Given the description of an element on the screen output the (x, y) to click on. 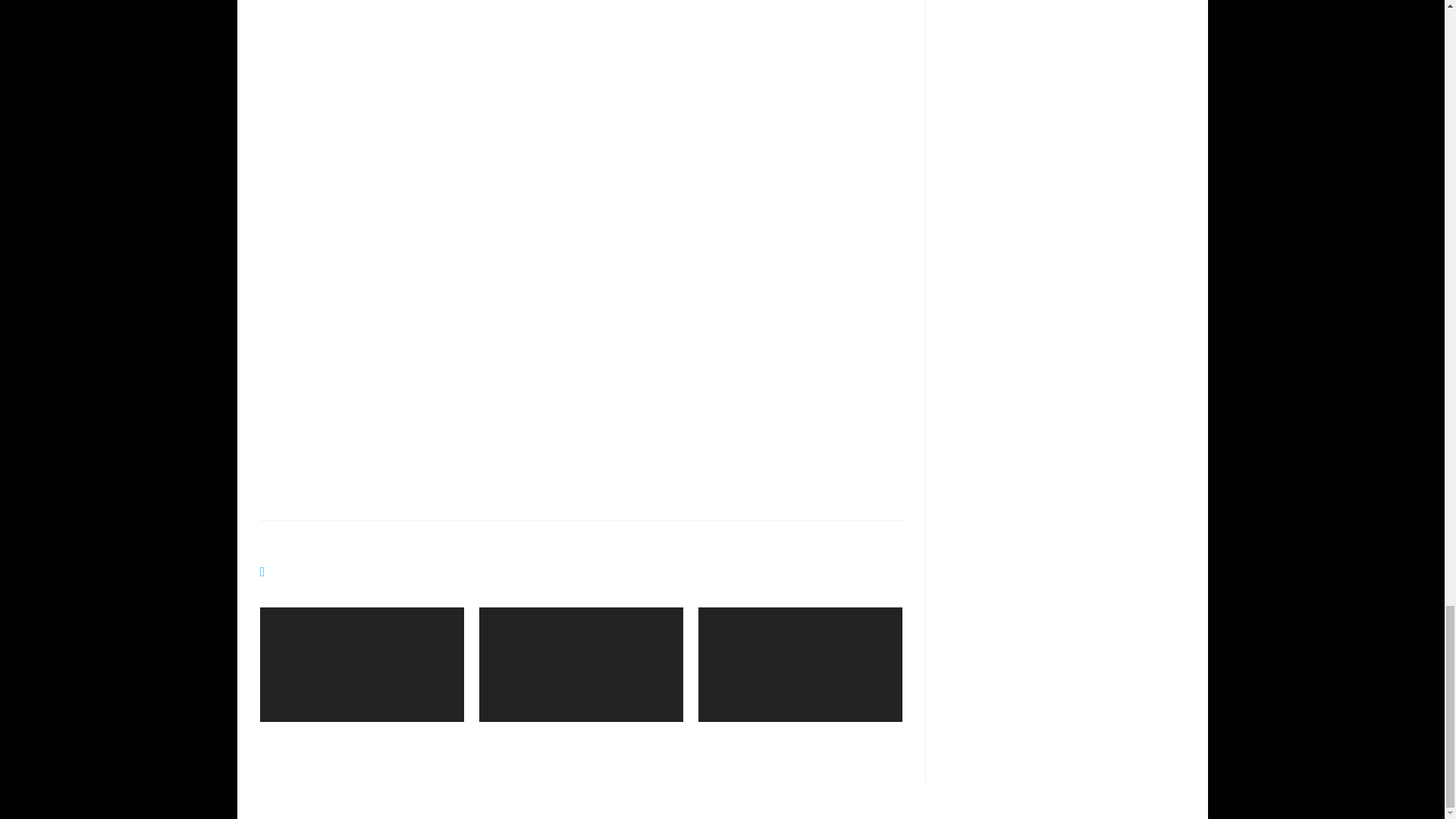
EP143: How to Combat A Saturated Market ft. Glenn Stromberg (580, 739)
Northwest Indiana's premier property management company (400, 346)
EP142: Make Stuff Happen ft. Felix Raposo (800, 739)
Remodel your kitchen or bathroom in Northwest Indiana (573, 381)
